Given the description of an element on the screen output the (x, y) to click on. 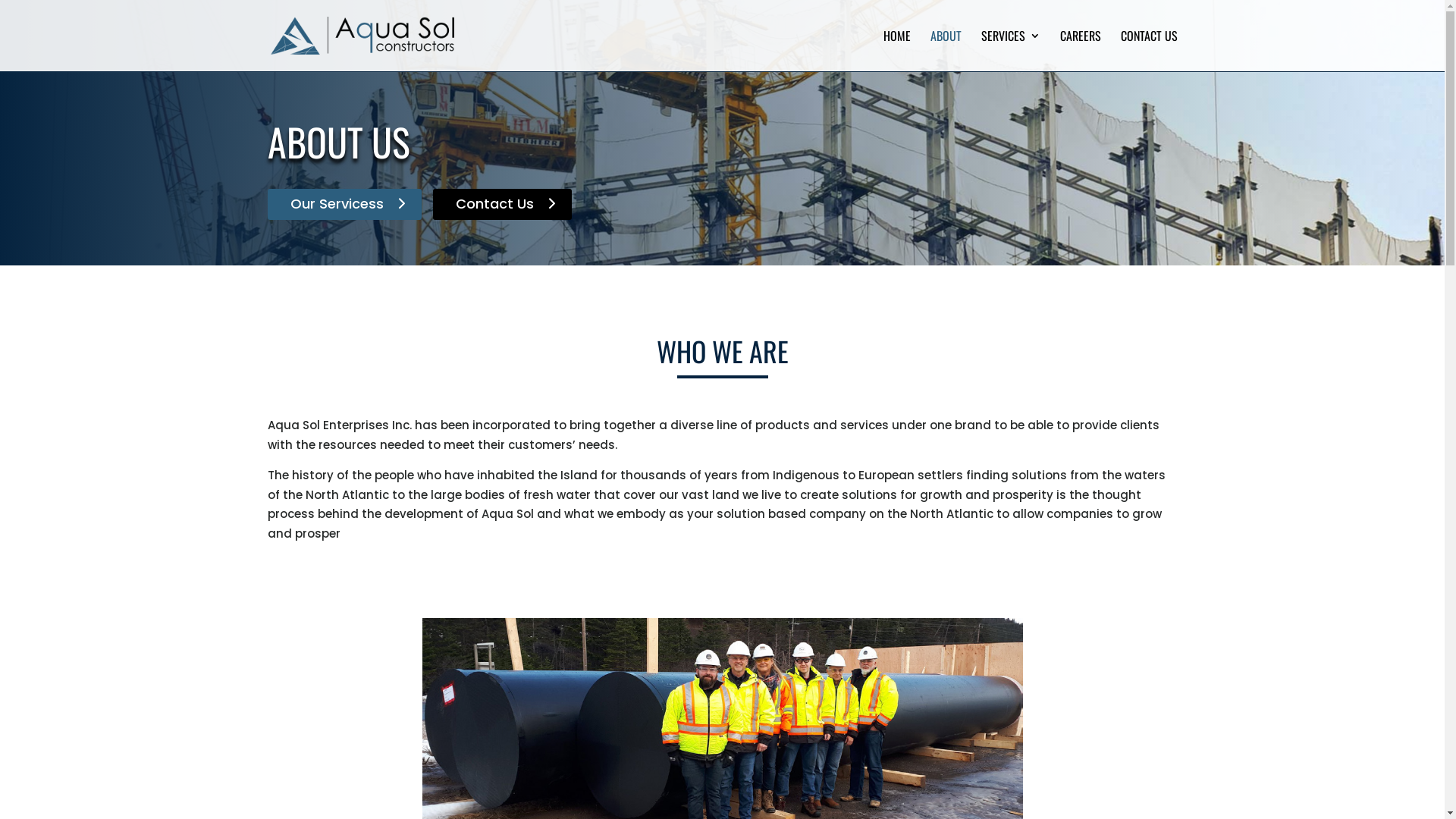
SERVICES Element type: text (1010, 50)
Contact Us Element type: text (501, 203)
HOME Element type: text (896, 50)
CONTACT US Element type: text (1148, 50)
ABOUT Element type: text (944, 50)
Our Servicess Element type: text (343, 203)
CAREERS Element type: text (1080, 50)
